Given the description of an element on the screen output the (x, y) to click on. 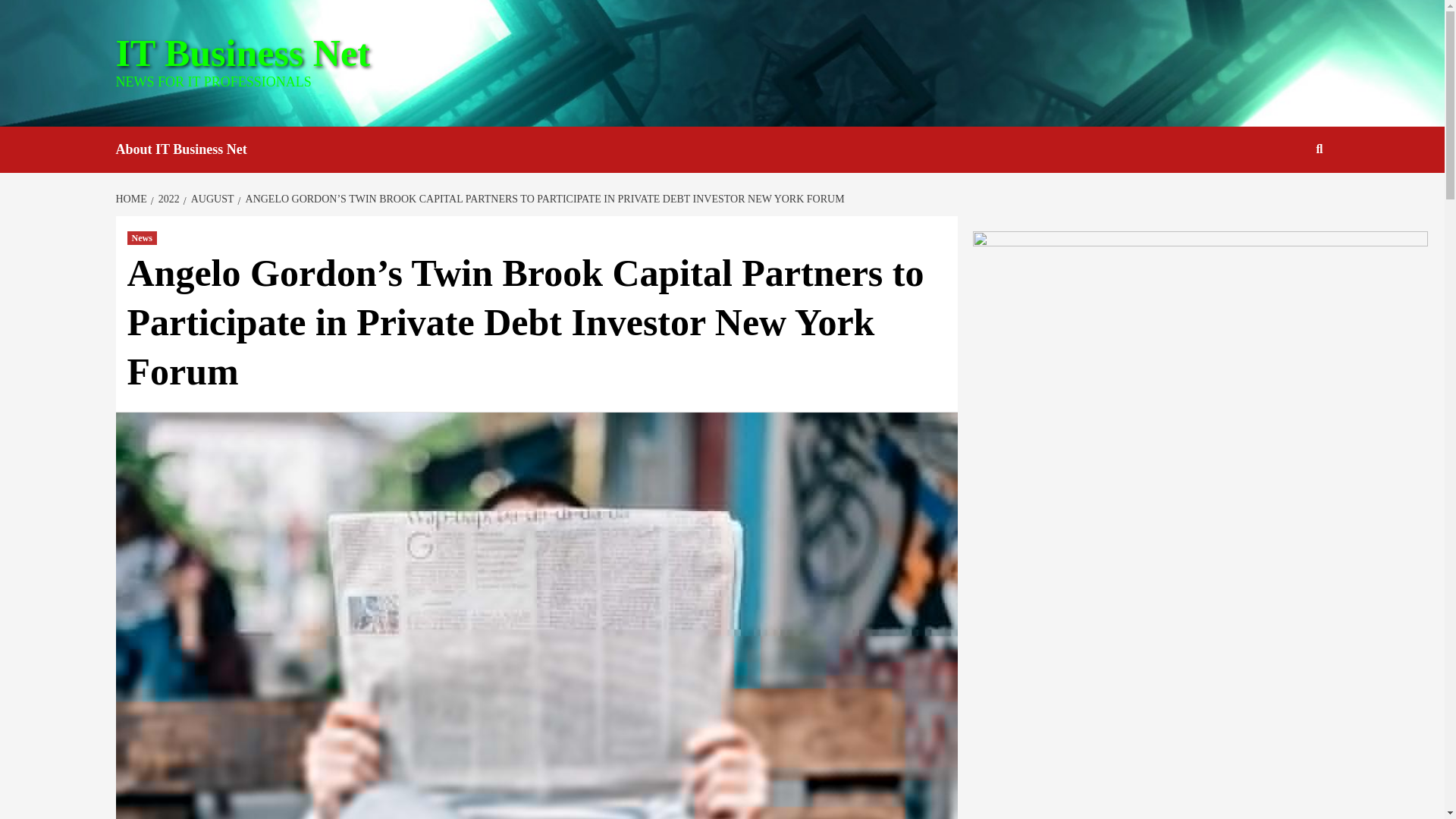
Search (1283, 197)
AUGUST (210, 198)
News (142, 237)
IT Business Net (242, 52)
About IT Business Net (192, 149)
HOME (132, 198)
2022 (167, 198)
